Given the description of an element on the screen output the (x, y) to click on. 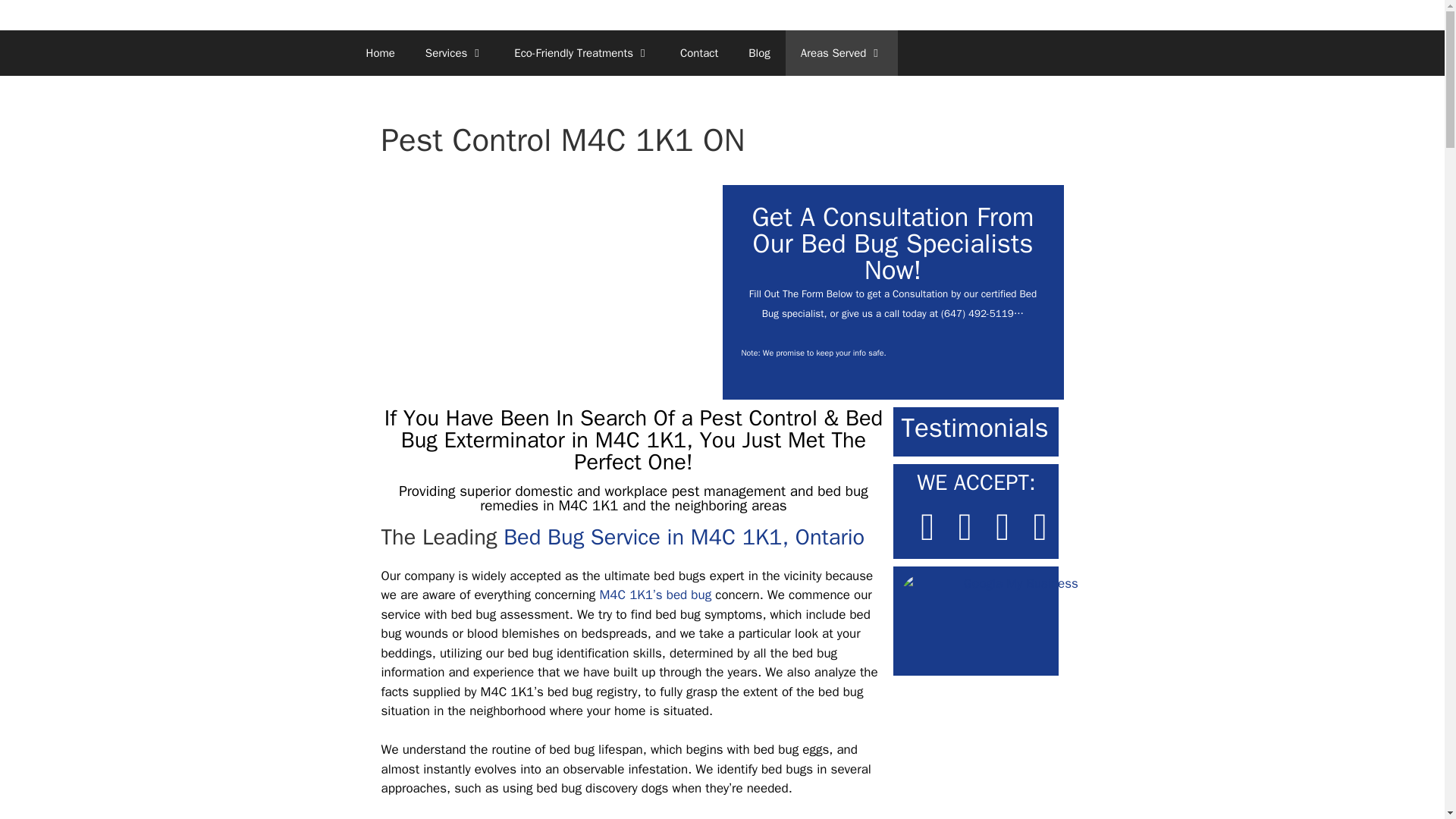
Eco-Friendly Treatments (582, 53)
Services (454, 53)
Contact (699, 53)
Areas Served (842, 53)
Blog (758, 53)
Home (379, 53)
